Given the description of an element on the screen output the (x, y) to click on. 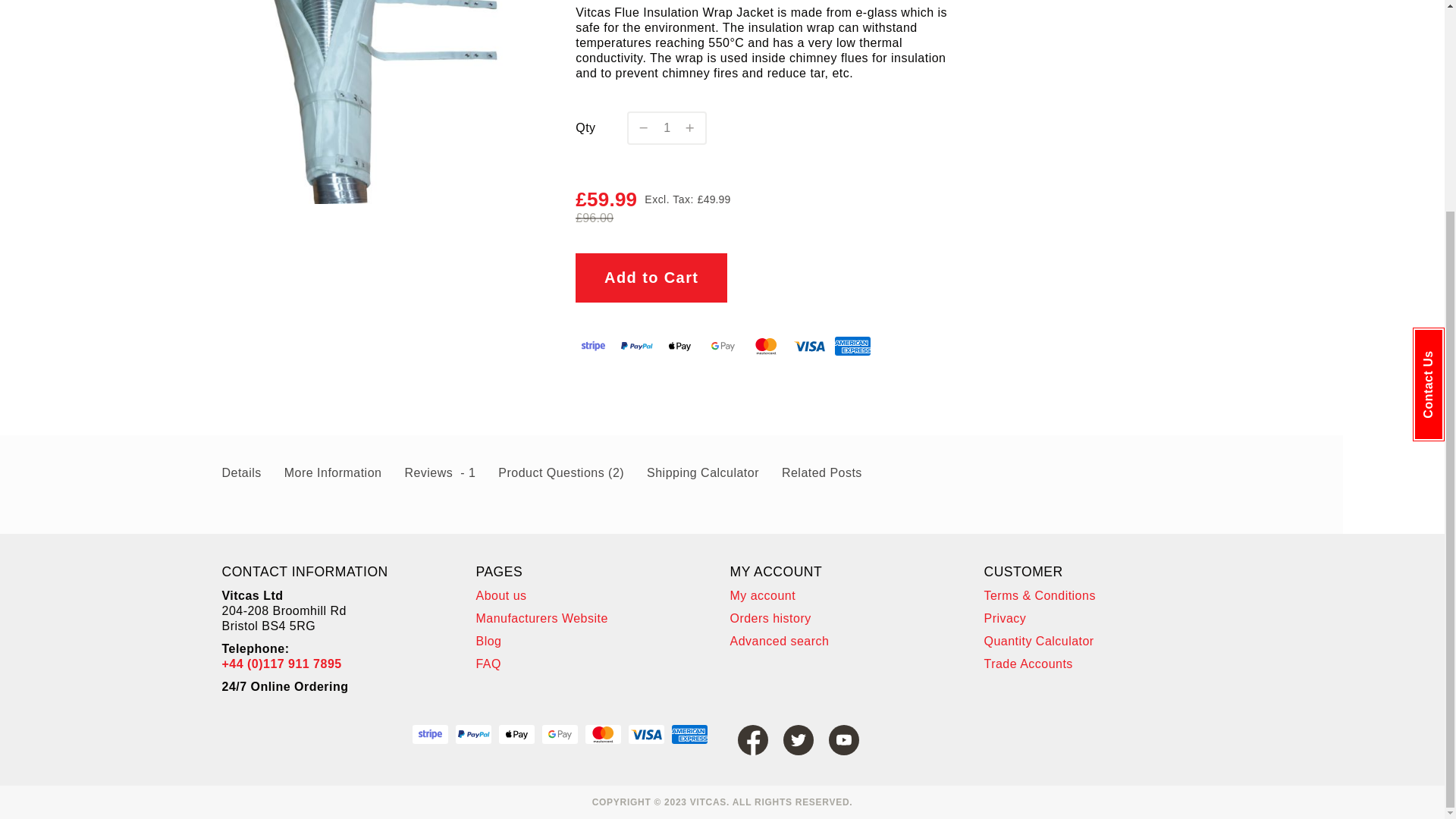
1 (666, 127)
